Given the description of an element on the screen output the (x, y) to click on. 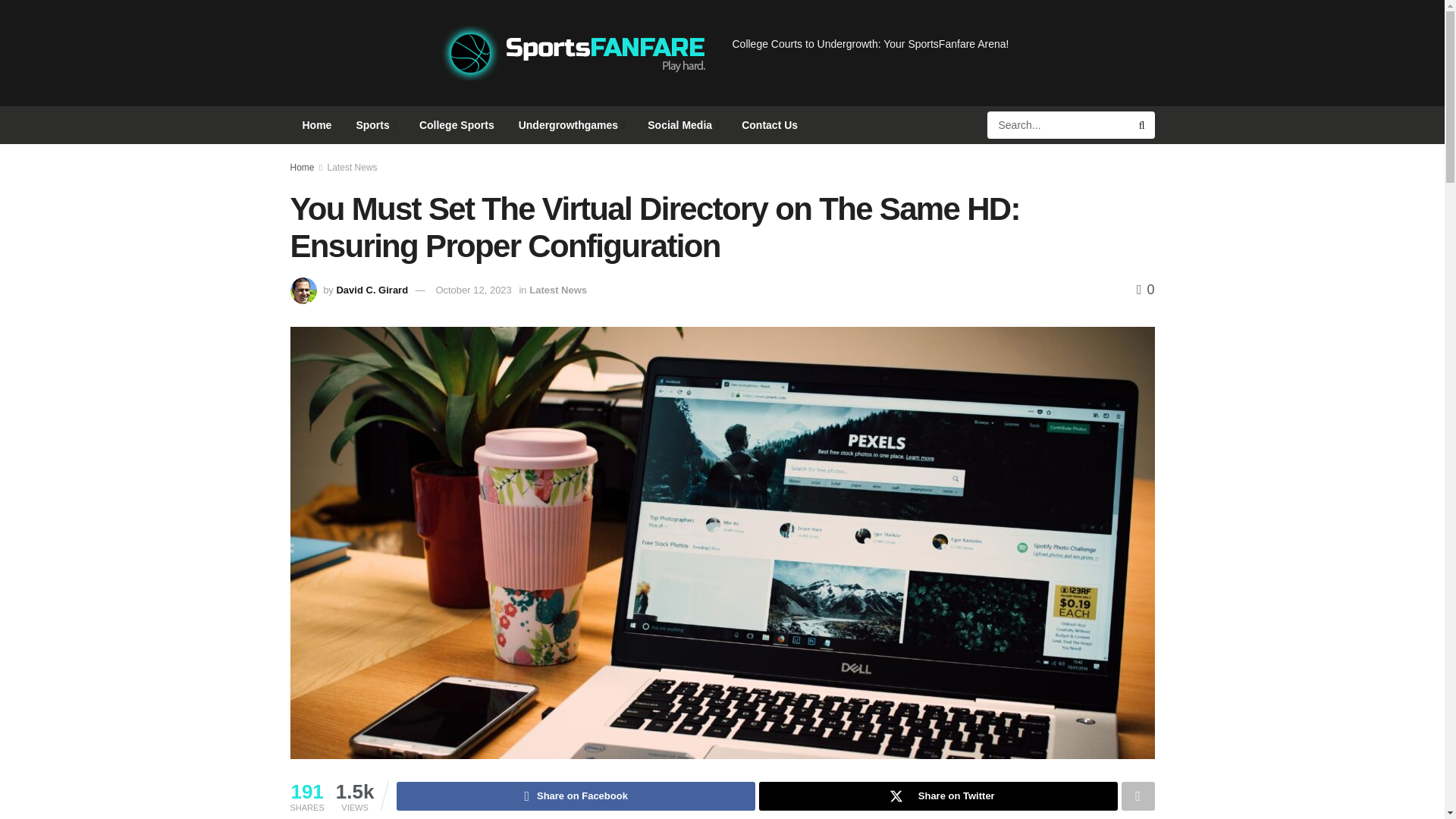
Home (316, 125)
Undergrowthgames (571, 125)
College Sports (456, 125)
Sports (374, 125)
Contact Us (769, 125)
Social Media (681, 125)
